Given the description of an element on the screen output the (x, y) to click on. 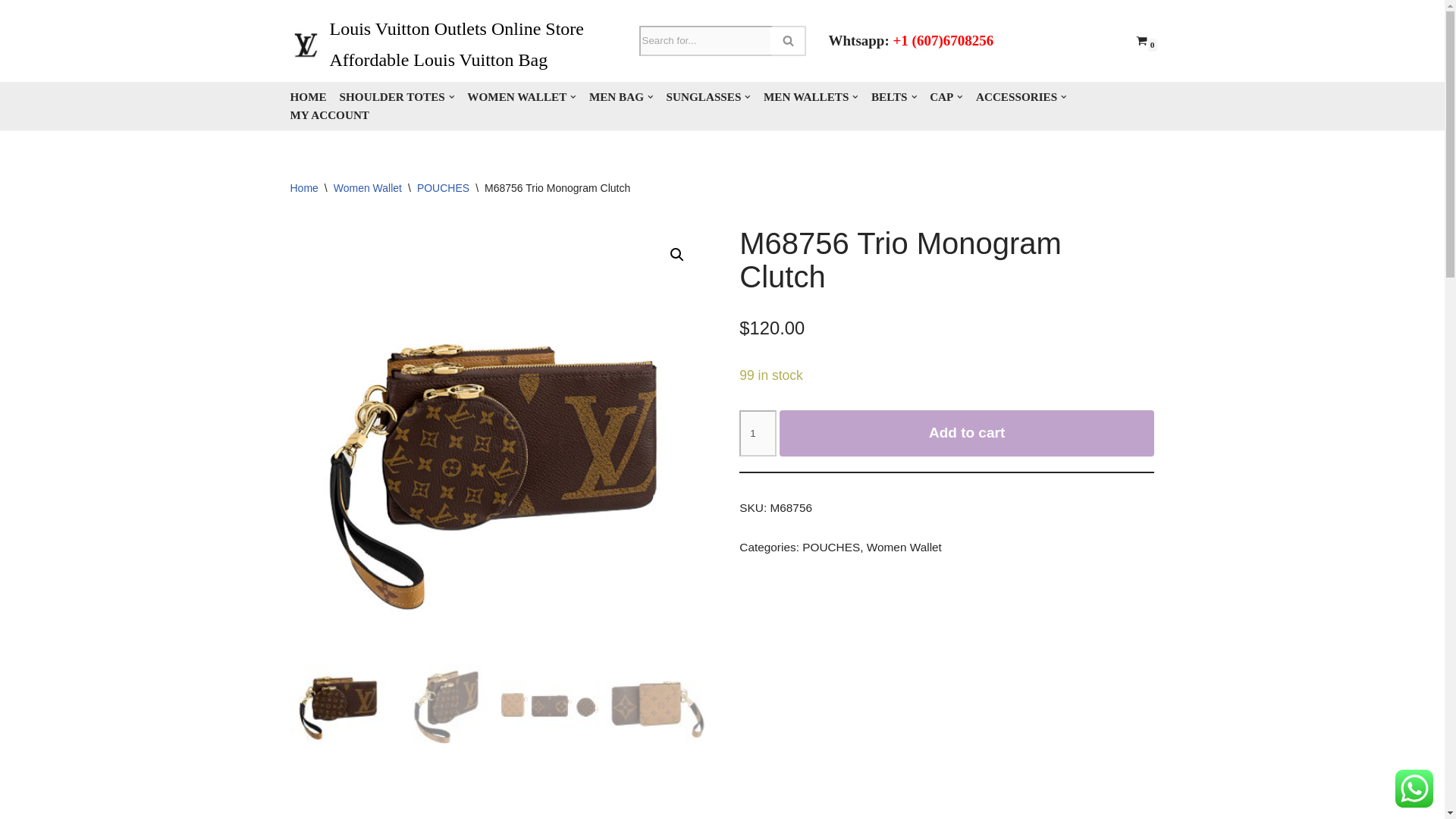
HOME (307, 96)
BELTS (893, 96)
0 (1141, 40)
SHOULDER TOTES (396, 96)
WOMEN WALLET (521, 96)
Skip to content (11, 31)
MEN WALLETS (810, 96)
MEN BAG (621, 96)
